Given the description of an element on the screen output the (x, y) to click on. 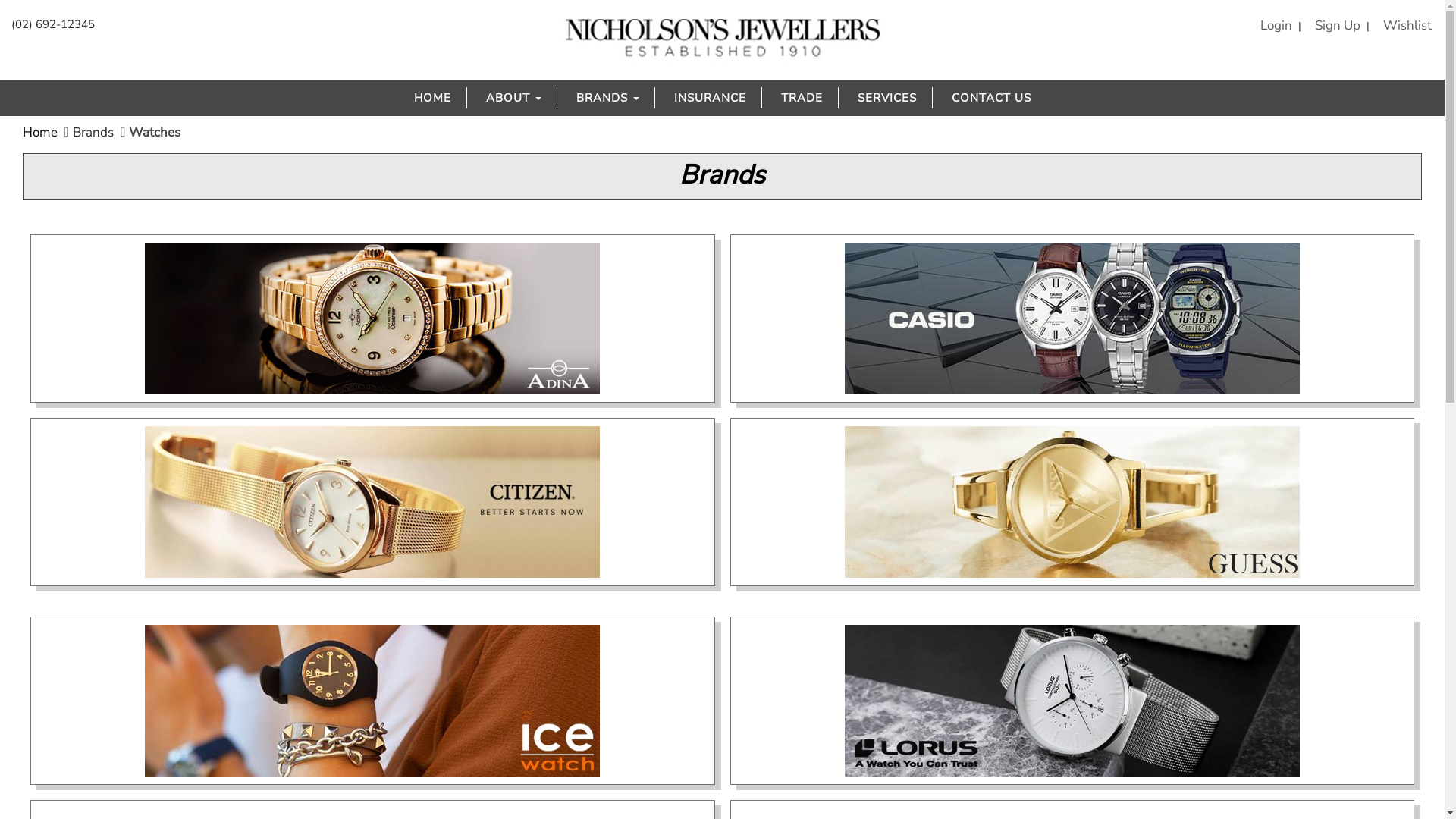
Sign Up Element type: text (1333, 24)
Login Element type: text (1272, 24)
BRANDS Element type: text (607, 97)
Wishlist Element type: text (1403, 24)
Follow Nicholsons Jewellers on Facebook Element type: hover (1427, 61)
Lorus Element type: hover (1072, 700)
Nicholsons Jewellers In Wagga Wagga, NSW Element type: hover (722, 37)
Casio Element type: hover (1072, 318)
Ice Watch Element type: hover (372, 700)
INSURANCE Element type: text (709, 97)
Guess Element type: hover (1072, 501)
Home Element type: text (39, 132)
SERVICES Element type: text (886, 97)
ABOUT Element type: text (512, 97)
TRADE Element type: text (801, 97)
Citizen Element type: hover (372, 501)
CONTACT US Element type: text (990, 97)
HOME Element type: text (432, 97)
Adina Element type: hover (372, 318)
